Given the description of an element on the screen output the (x, y) to click on. 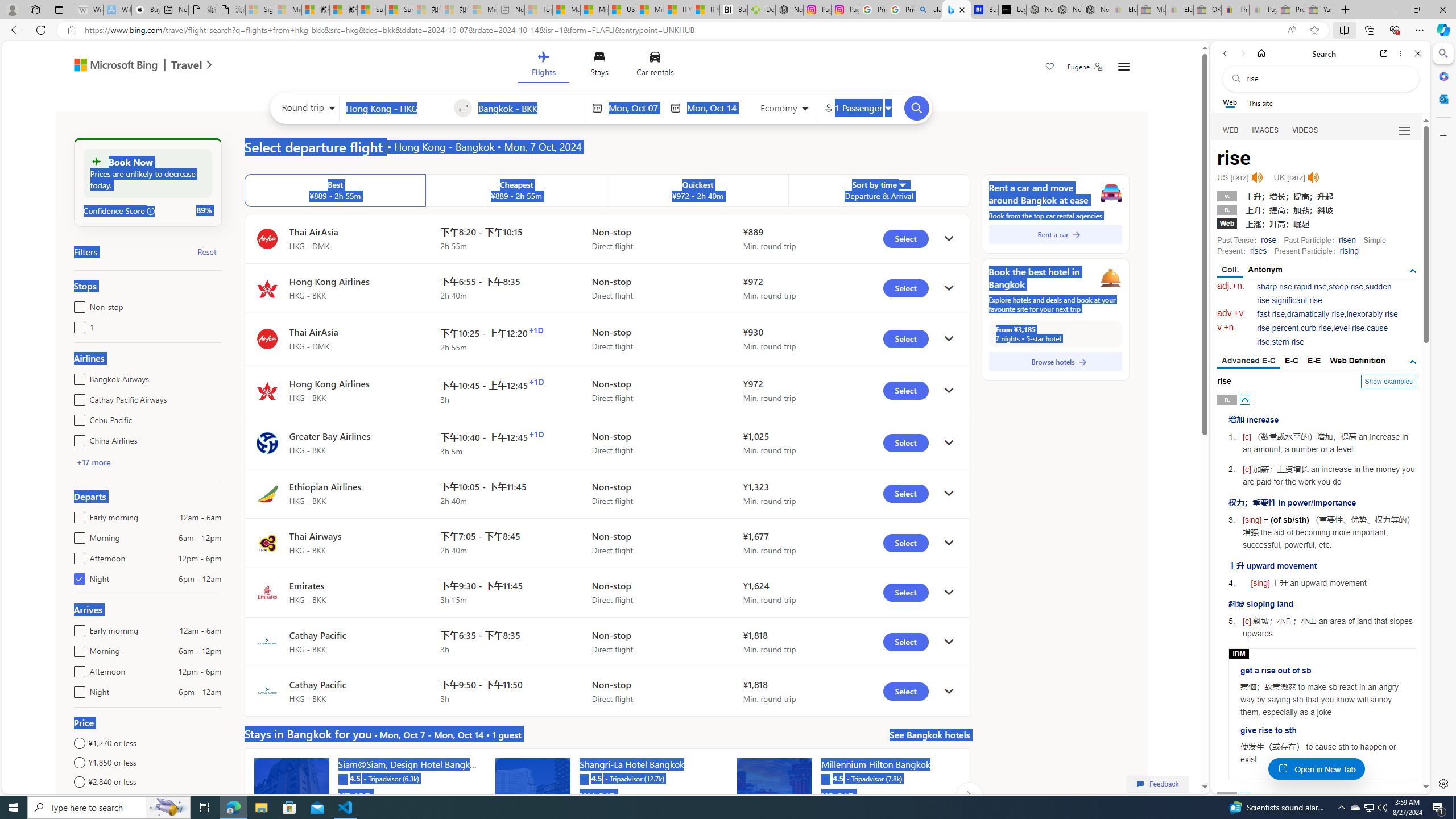
Microsoft account | Account Checkup - Sleeping (483, 9)
Antonym (1265, 269)
Going to? (528, 107)
Any price (146, 801)
Web Definition (1357, 360)
WEB (1231, 130)
Threats and offensive language policy | eBay (1235, 9)
rapid rise (1310, 286)
Press Room - eBay Inc. - Sleeping (1291, 9)
End date (713, 107)
cause rise (1322, 335)
